Given the description of an element on the screen output the (x, y) to click on. 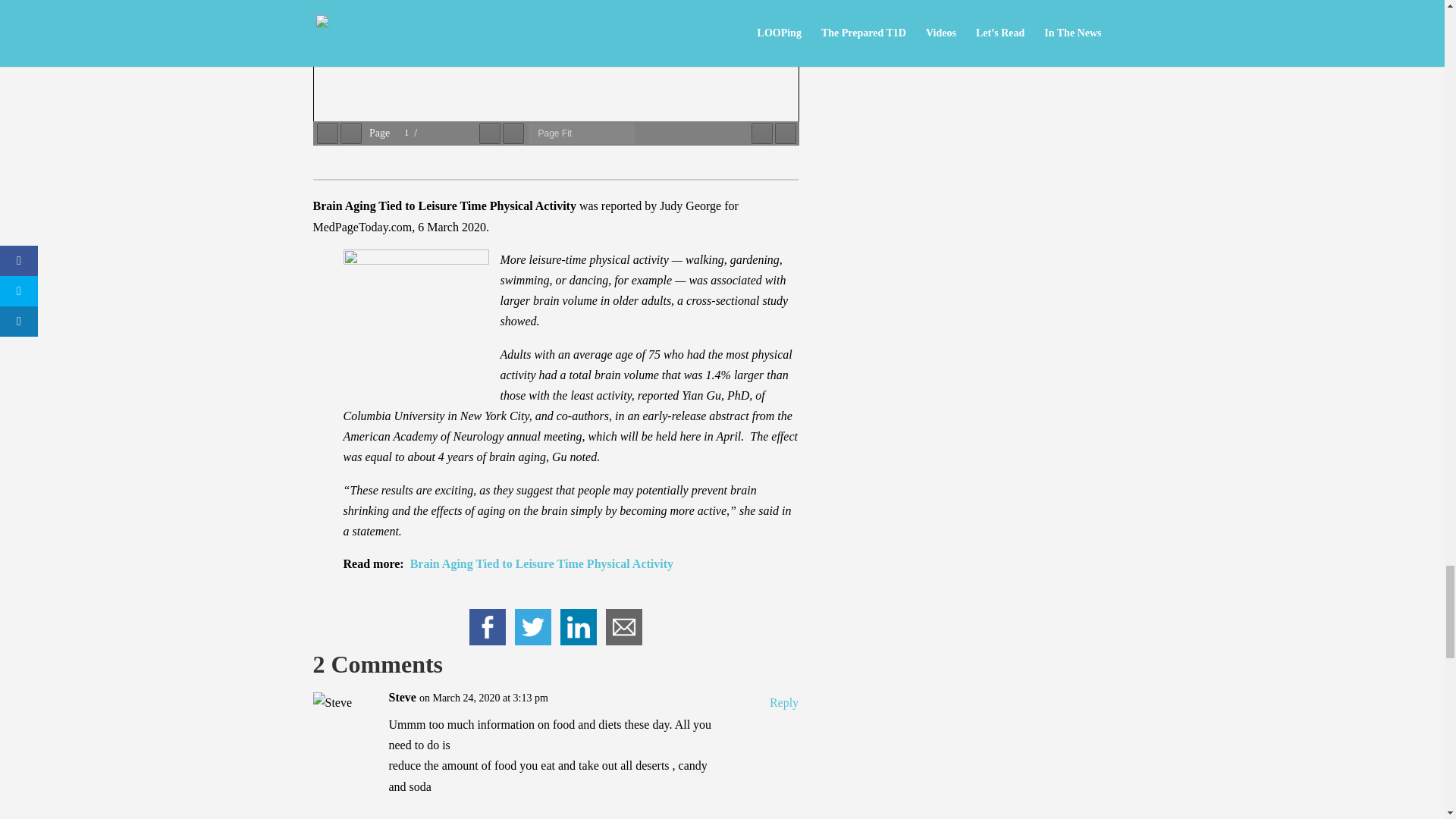
Brain Aging Tied to Leisure Time Physical Activity (541, 563)
email (623, 627)
Reply (783, 702)
twitter (533, 627)
Steve (401, 697)
facebook (487, 627)
linkedin (578, 627)
